Given the description of an element on the screen output the (x, y) to click on. 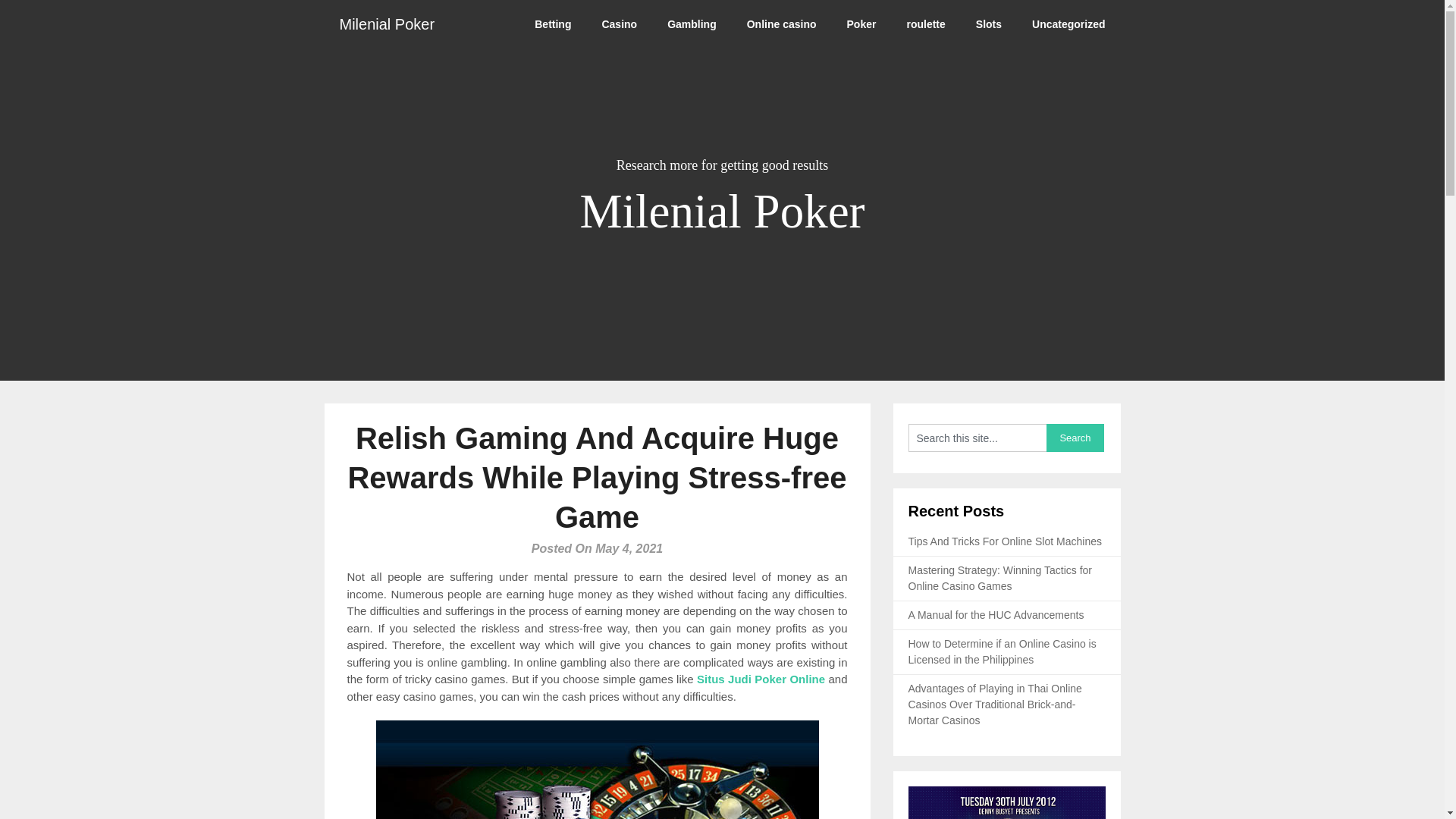
A Manual for the HUC Advancements (996, 614)
Search this site... (977, 438)
Situs Judi Poker Online (761, 678)
Uncategorized (1067, 24)
Slots (988, 24)
Online casino (781, 24)
Casino (619, 24)
Tips And Tricks For Online Slot Machines (1005, 541)
Milenial Poker (386, 24)
